Given the description of an element on the screen output the (x, y) to click on. 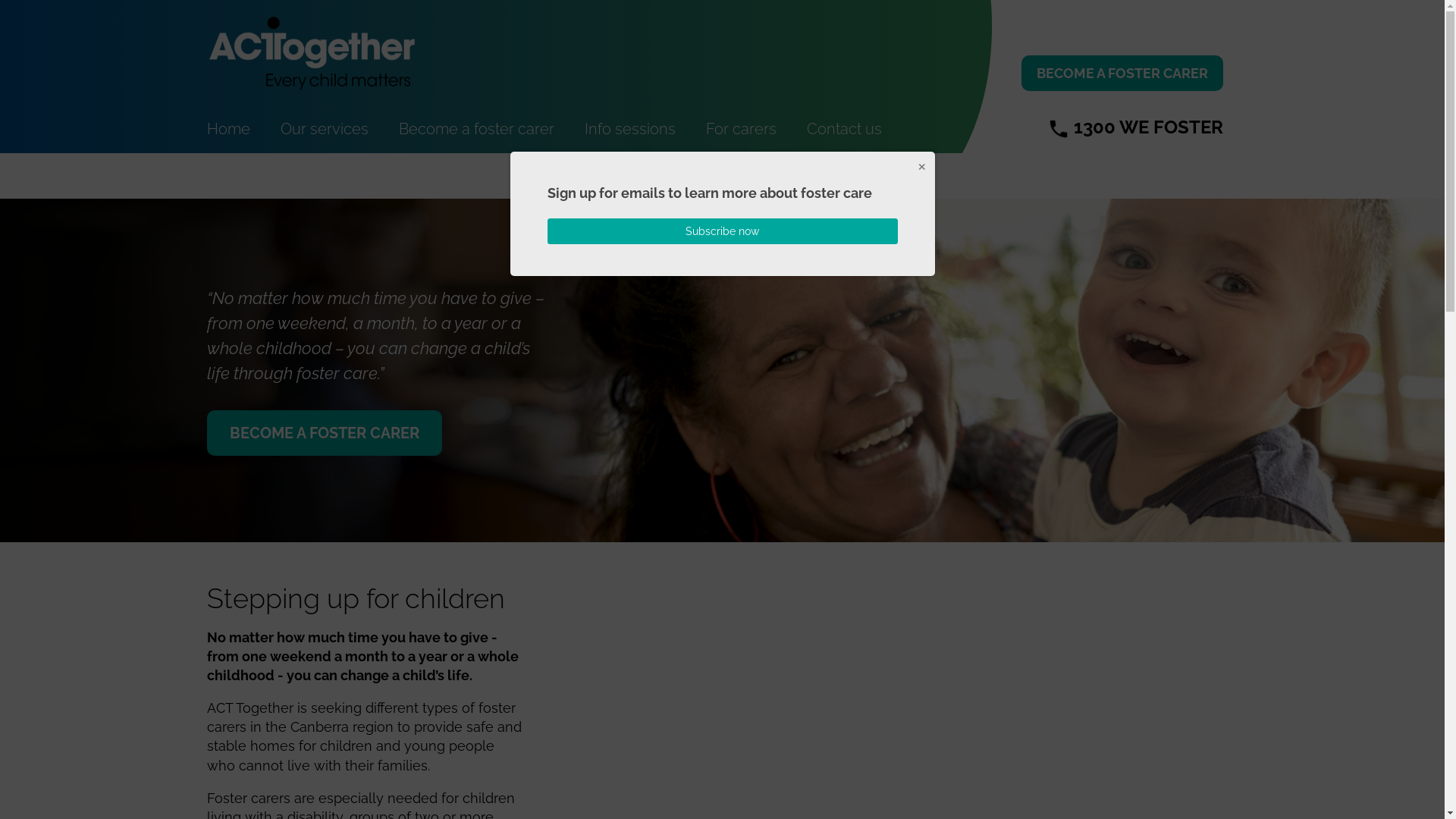
Our services Element type: text (324, 128)
For carers Element type: text (740, 128)
Become a foster carer Element type: text (476, 128)
Contact us Element type: text (843, 128)
Subscribe now Element type: text (722, 231)
BECOME A FOSTER CARER Element type: text (323, 432)
Home Element type: text (227, 128)
Info sessions Element type: text (628, 128)
BECOME A FOSTER CARER Element type: text (1121, 73)
